Given the description of an element on the screen output the (x, y) to click on. 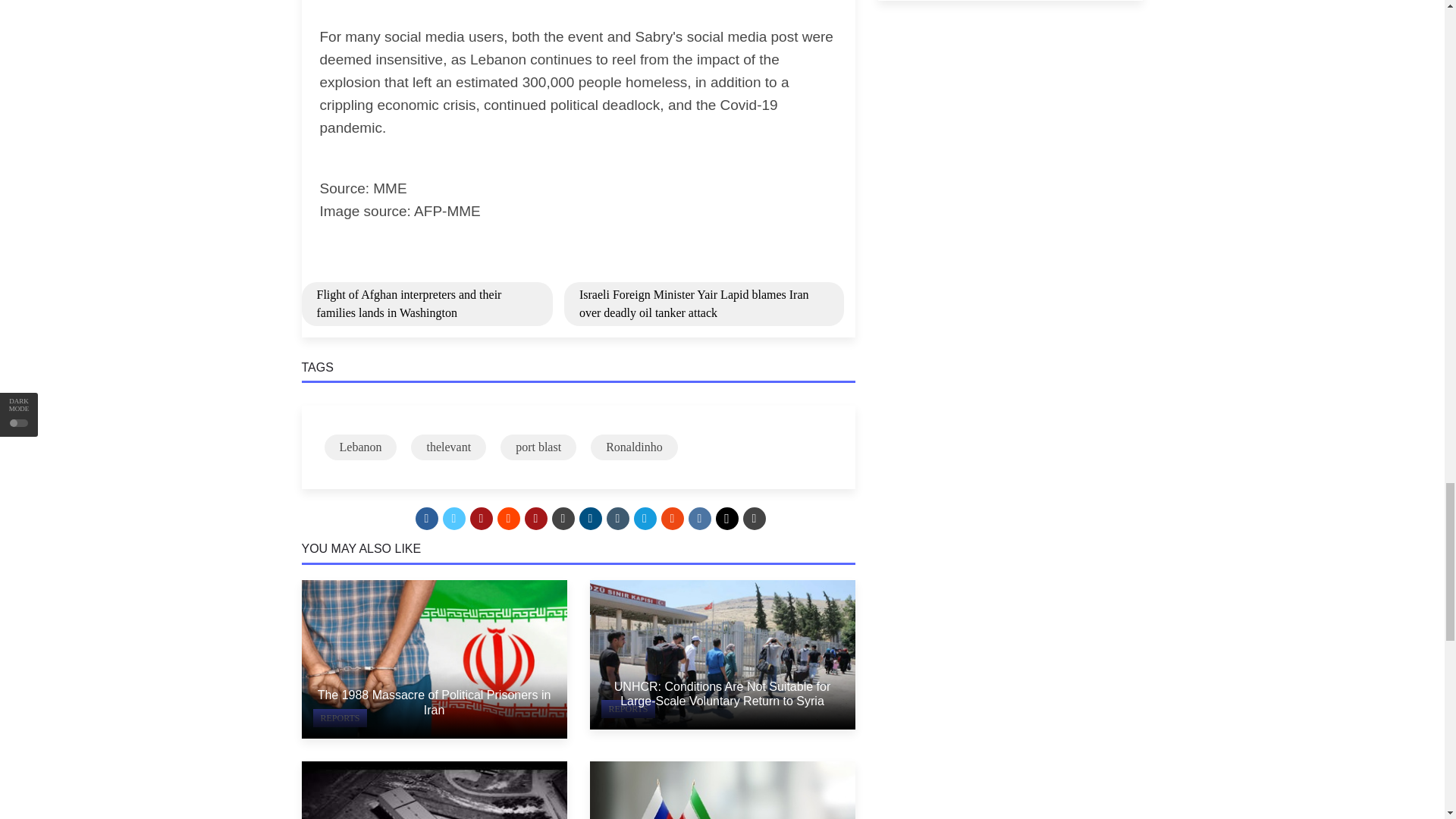
MME (389, 188)
port blast (538, 447)
Lebanon (360, 447)
Ronaldinho (634, 447)
thelevant (448, 447)
